Given the description of an element on the screen output the (x, y) to click on. 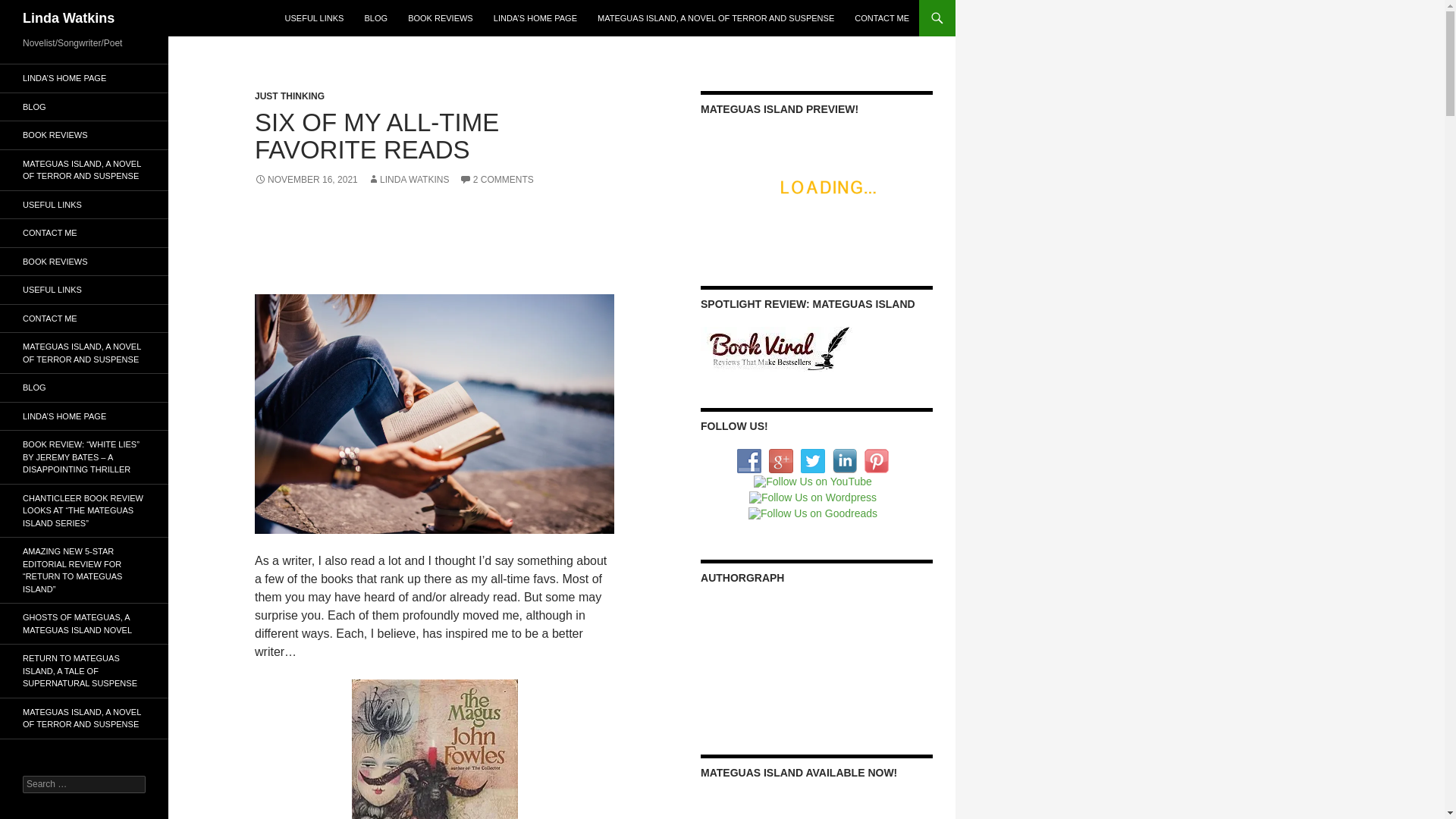
CONTACT ME (881, 18)
MATEGUAS ISLAND, A NOVEL OF TERROR AND SUSPENSE (715, 18)
Linda Watkins (69, 18)
Follow Us on Facebook (748, 460)
USEFUL LINKS (314, 18)
BLOG (375, 18)
NOVEMBER 16, 2021 (306, 179)
LINDA WATKINS (408, 179)
JUST THINKING (289, 95)
2 COMMENTS (497, 179)
